Given the description of an element on the screen output the (x, y) to click on. 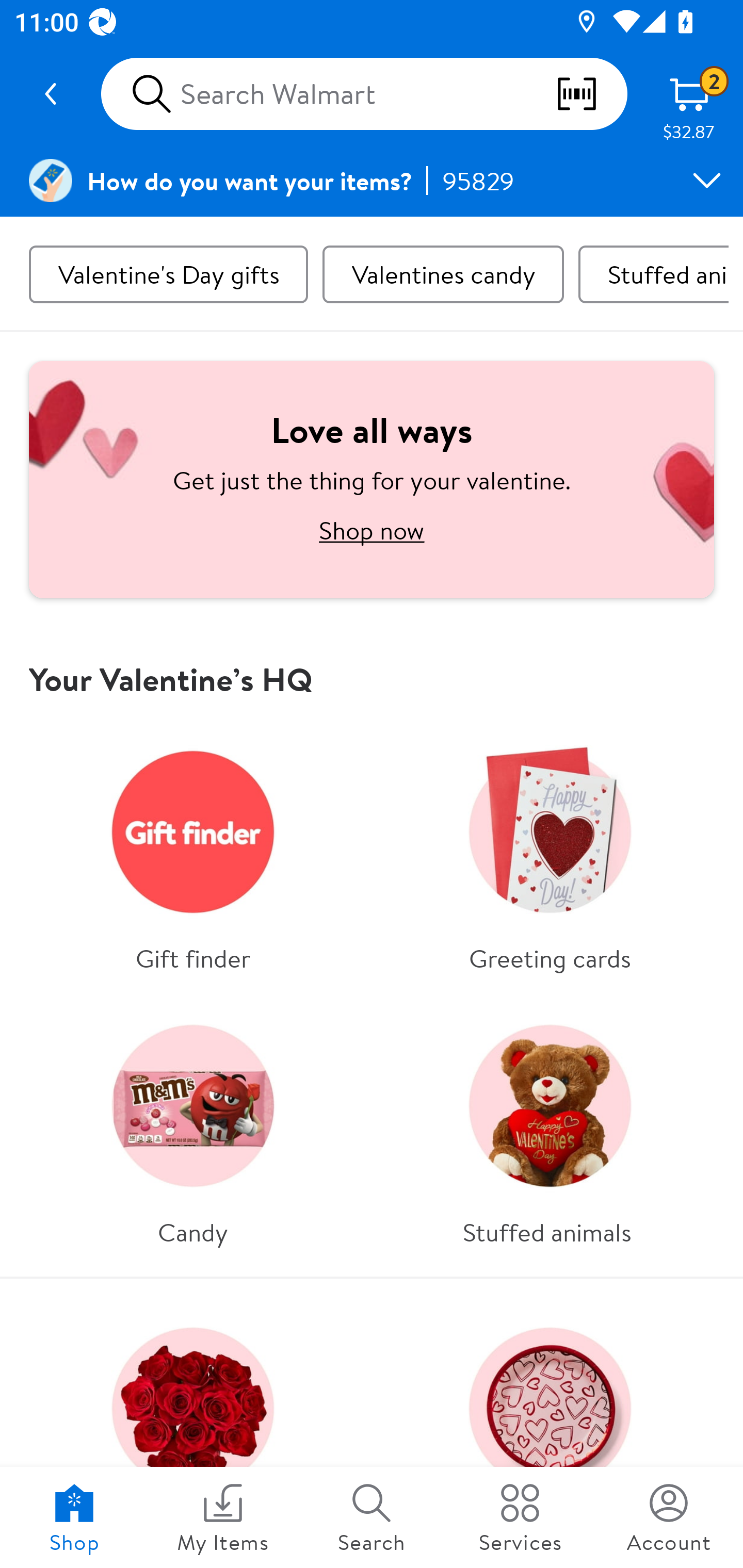
Navigate up (50, 93)
Search Walmart scan barcodes qr codes and more (364, 94)
scan barcodes qr codes and more (591, 94)
Valentine's Day gifts (168, 274)
Valentines candy (442, 274)
Stuffed animals (653, 274)
Shop now (371, 529)
Gift finder (192, 852)
Greeting cards (549, 852)
Candy (192, 1127)
Stuffed animals  (549, 1127)
Flowers (192, 1429)
Party supplies (549, 1429)
My Items (222, 1517)
Search (371, 1517)
Services (519, 1517)
Account (668, 1517)
